Given the description of an element on the screen output the (x, y) to click on. 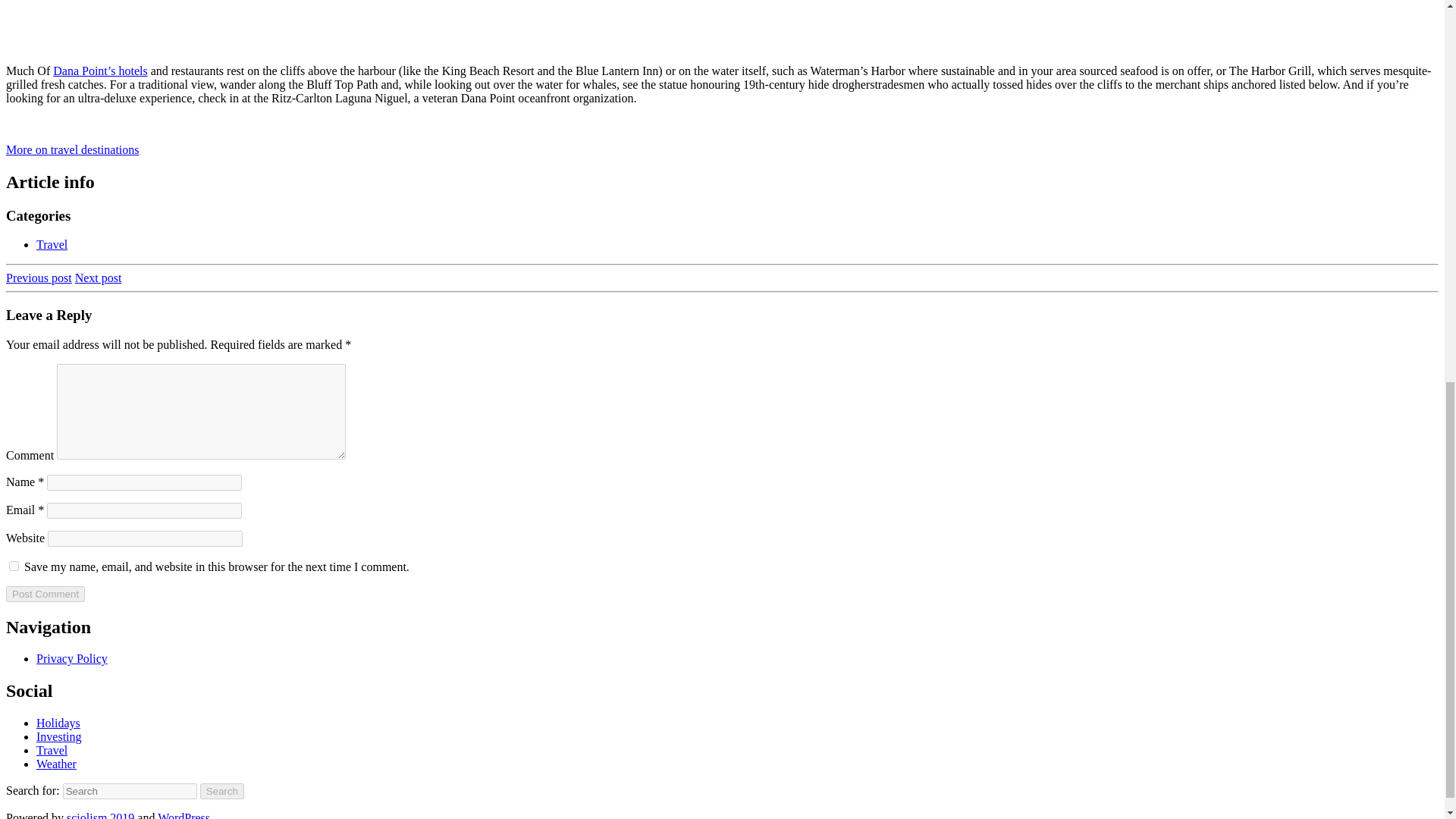
Weather (56, 763)
Post Comment (44, 593)
More on travel destinations (72, 149)
Next post (98, 277)
yes (13, 565)
Previous post (38, 277)
Search (222, 790)
Search (222, 790)
Travel (51, 244)
Investing (58, 736)
